Given the description of an element on the screen output the (x, y) to click on. 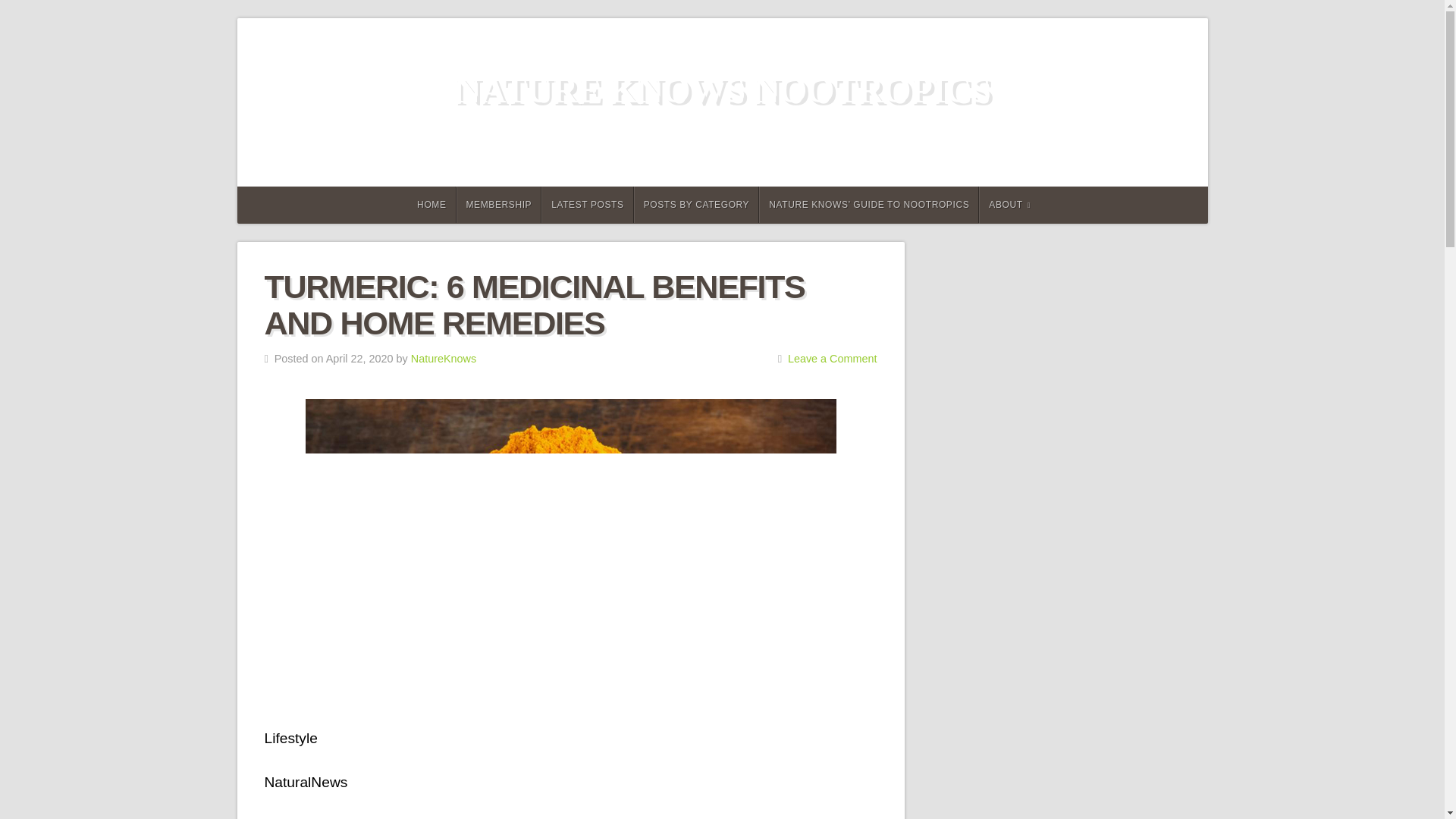
HOME (429, 204)
Posts by NatureKnows (443, 357)
Leave a Comment (832, 357)
Leave a Comment (832, 357)
ABOUT (1008, 204)
LATEST POSTS (587, 204)
POSTS BY CATEGORY (696, 204)
MEMBERSHIP (499, 204)
NatureKnows (443, 357)
NATURE KNOWS NOOTROPICS (722, 89)
